Given the description of an element on the screen output the (x, y) to click on. 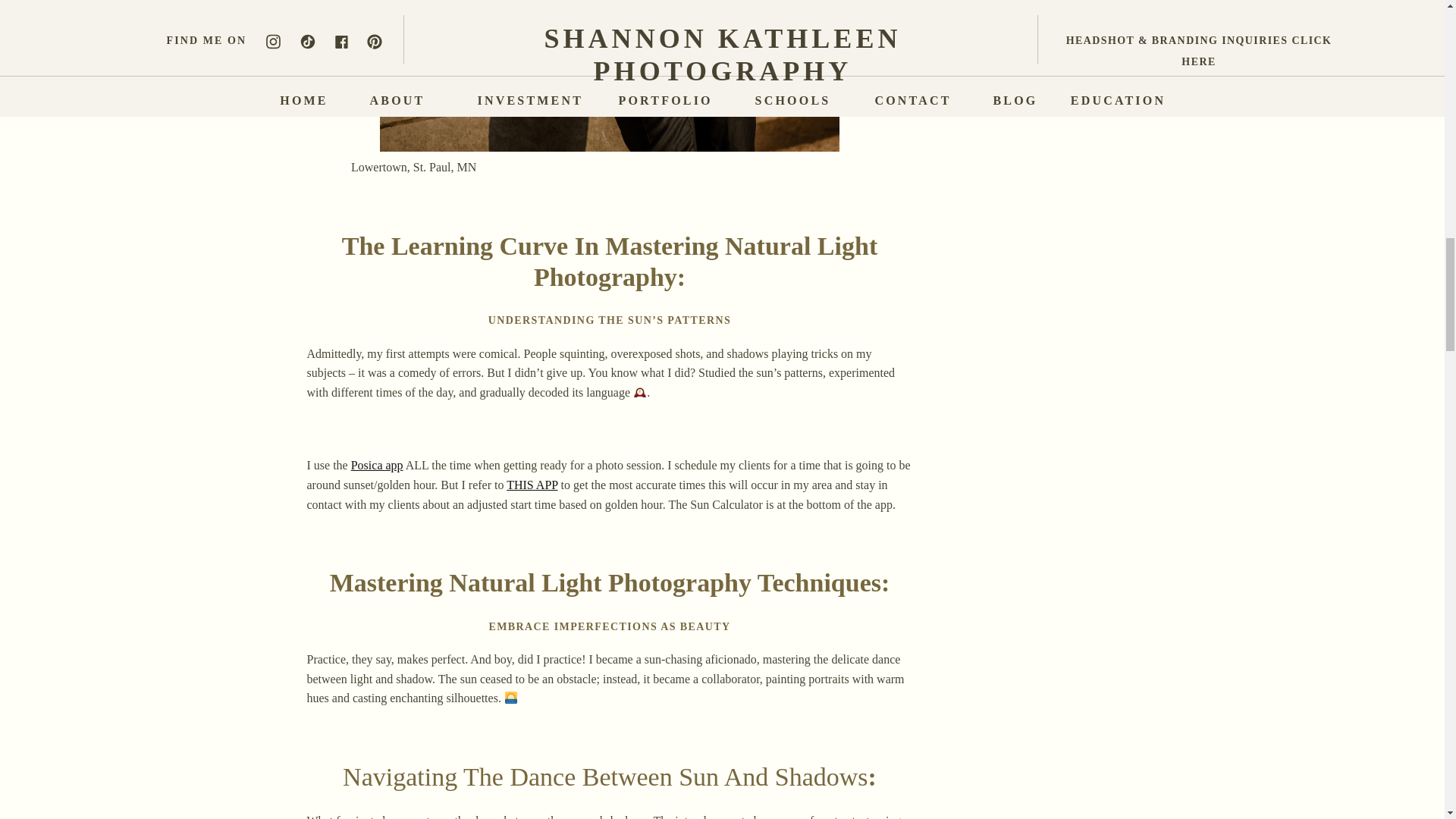
Posica app (376, 464)
THIS APP (531, 484)
